Given the description of an element on the screen output the (x, y) to click on. 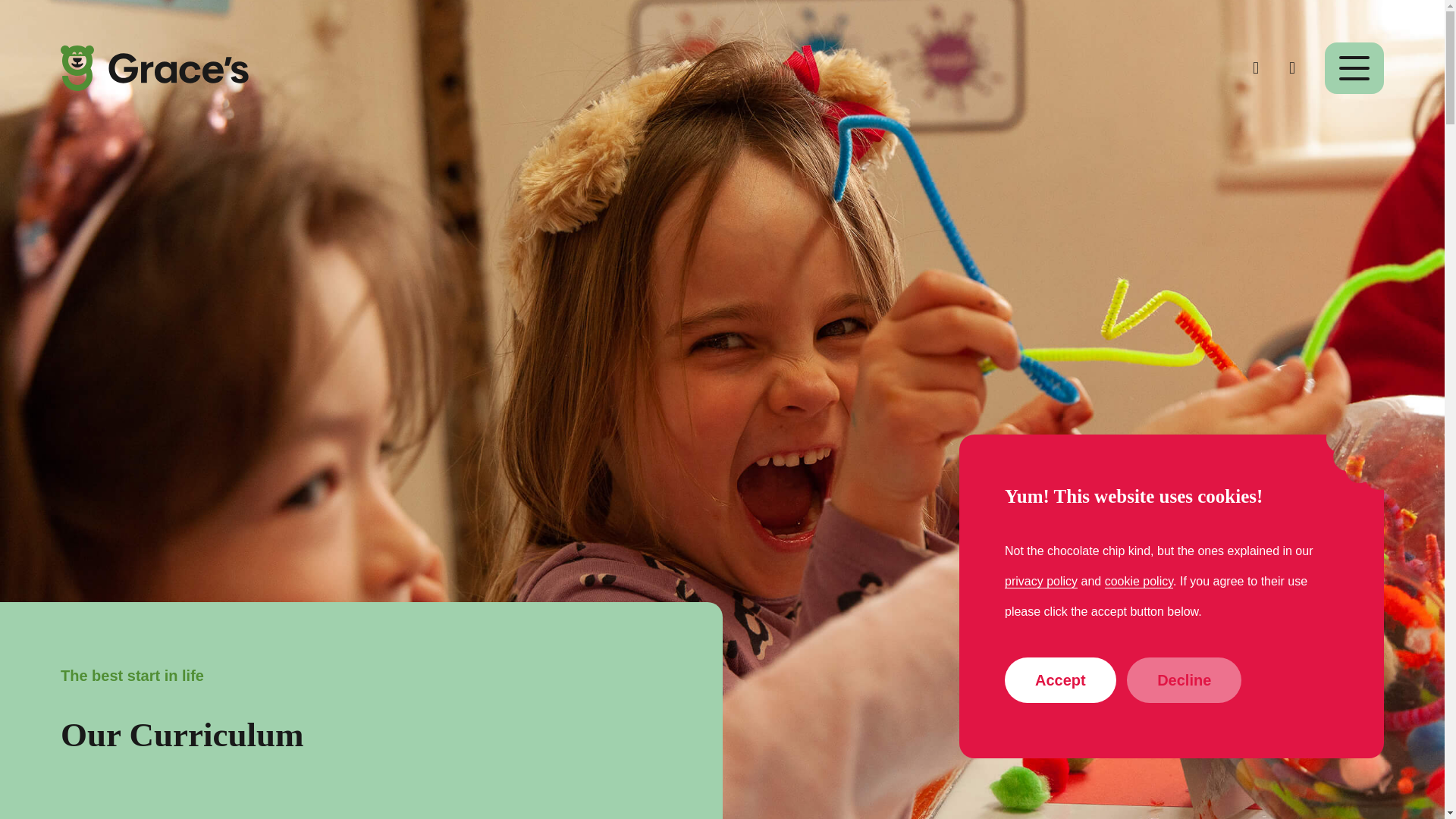
Decline (1183, 679)
privacy policy (1040, 581)
cookie policy (1139, 581)
Accept (1060, 679)
